Given the description of an element on the screen output the (x, y) to click on. 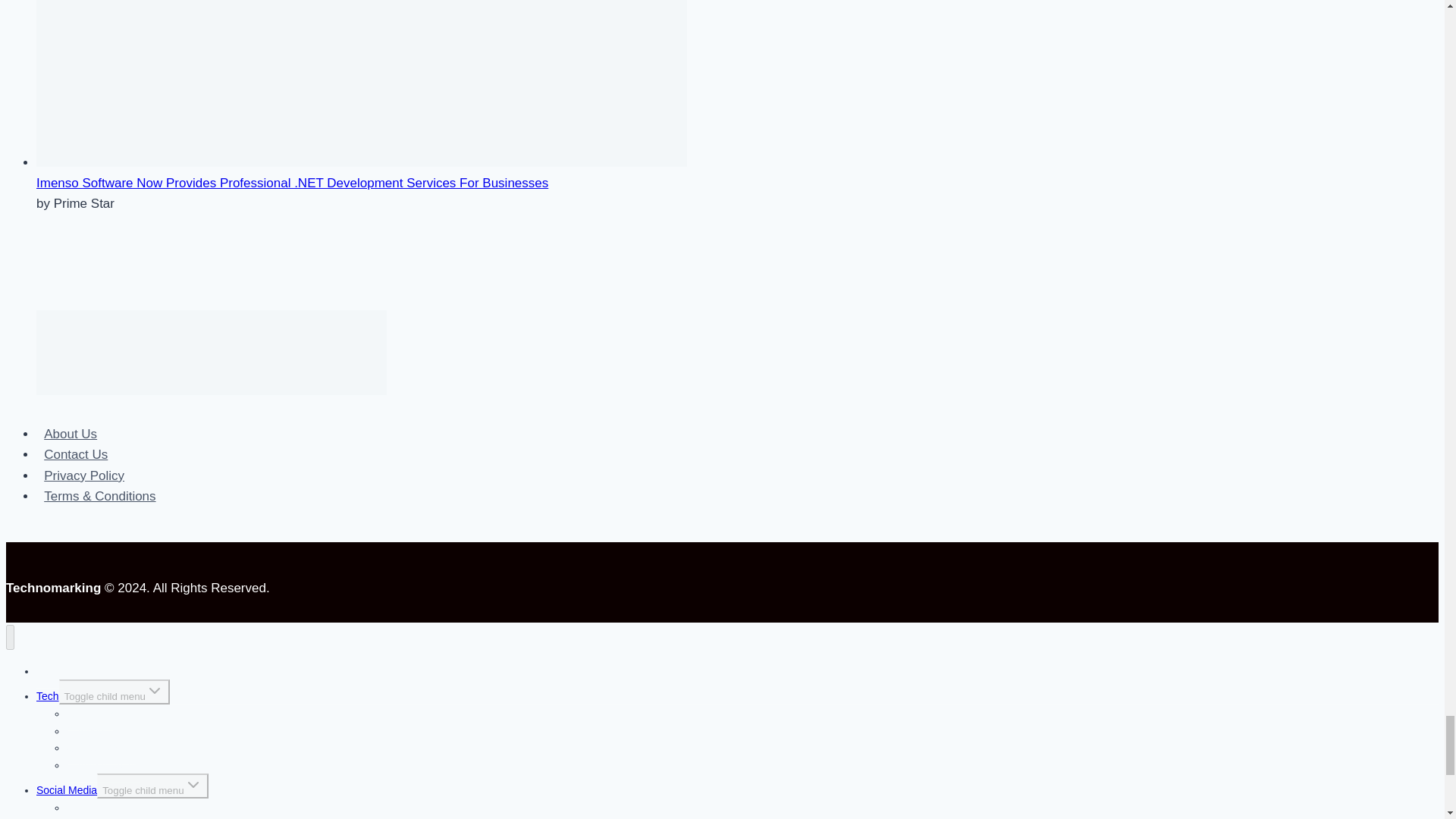
Expand (154, 690)
Expand (193, 784)
